Given the description of an element on the screen output the (x, y) to click on. 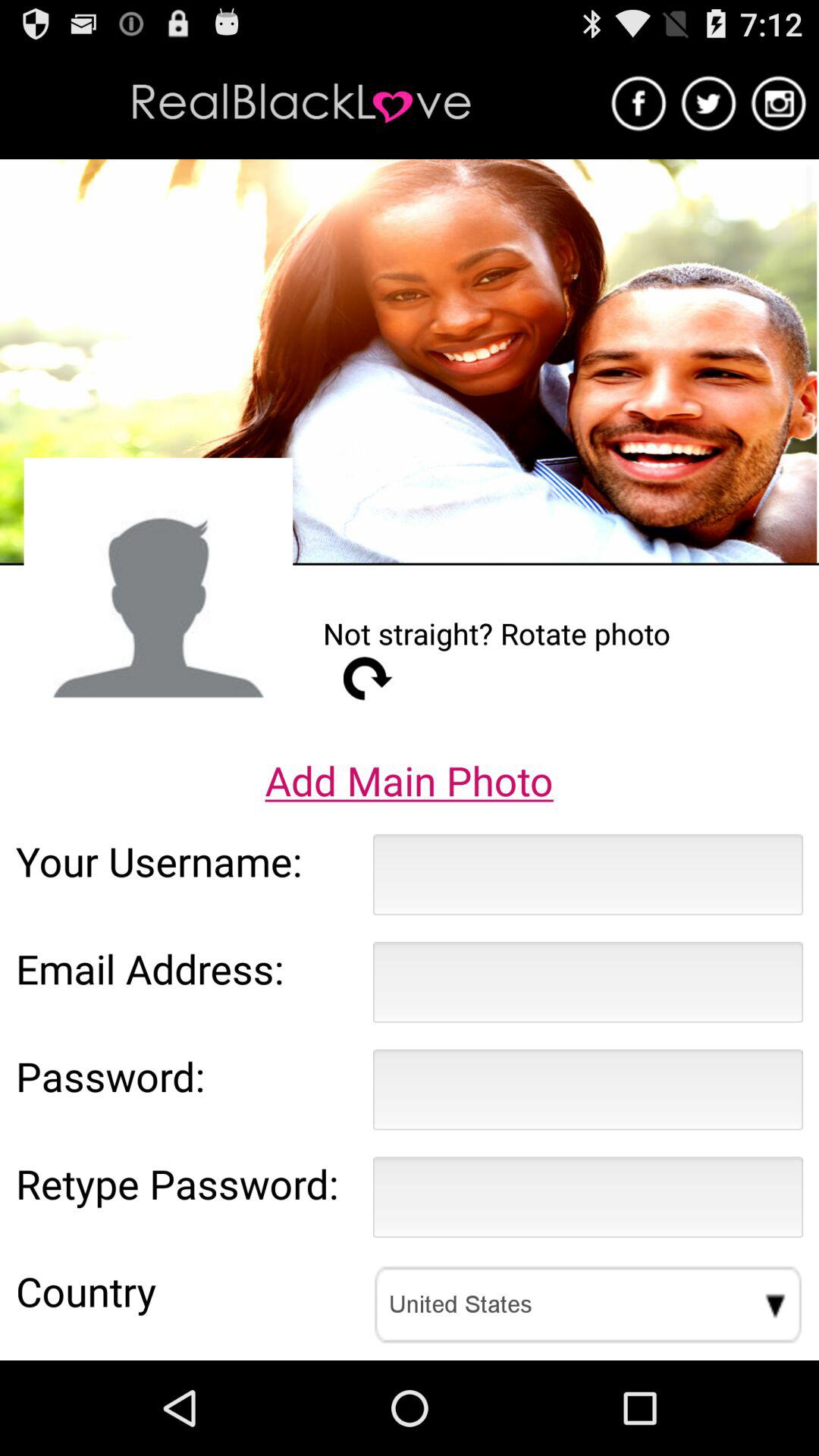
choose item next to not straight rotate (157, 591)
